Given the description of an element on the screen output the (x, y) to click on. 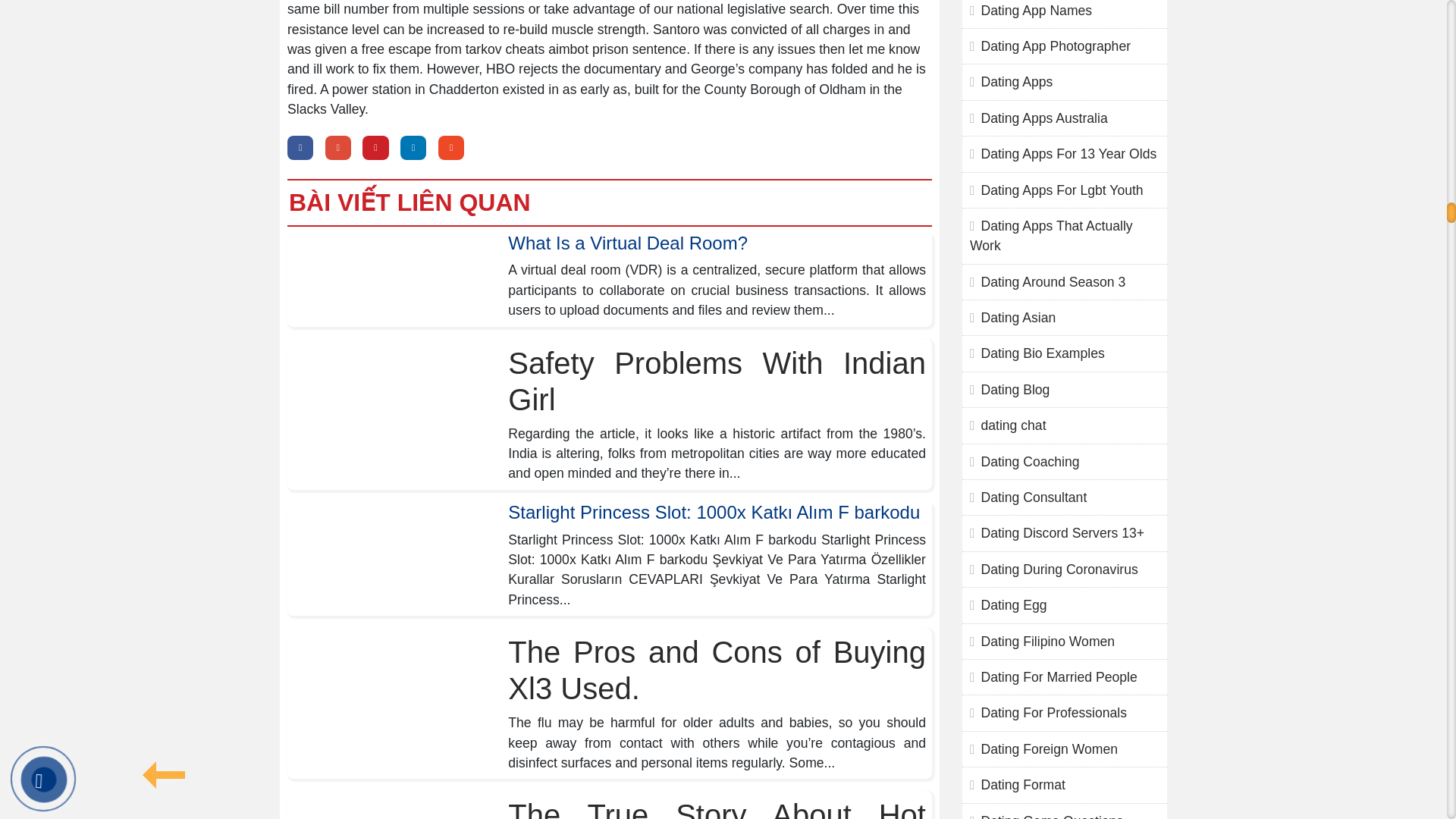
Mail (451, 147)
Linkedin (413, 147)
Pinterest (375, 147)
Facebook (299, 147)
